Given the description of an element on the screen output the (x, y) to click on. 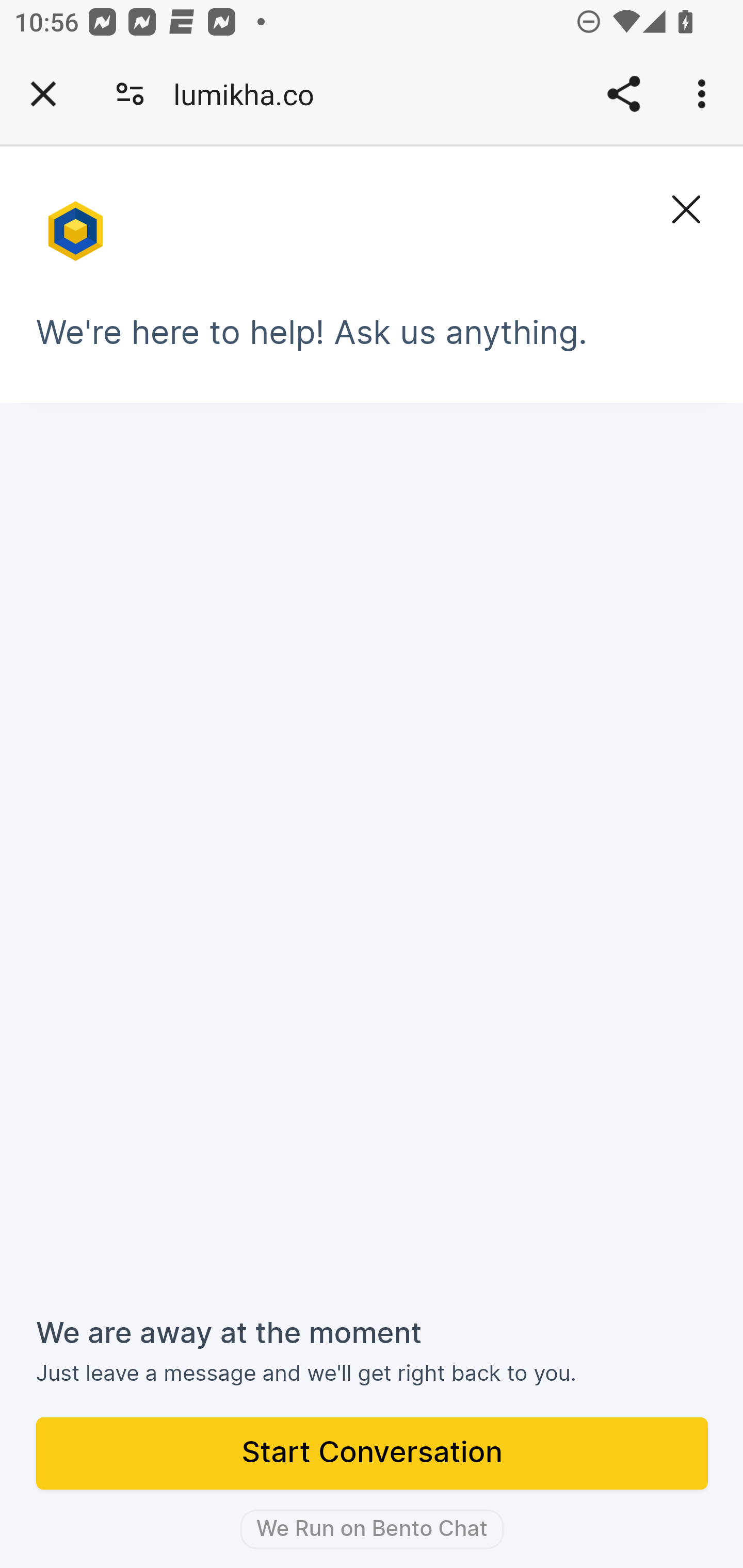
Close tab (43, 93)
Share (623, 93)
Customize and control Google Chrome (705, 93)
Connection is secure (129, 93)
lumikha.co (250, 93)
LUMI-ID-Avatar_Transparent-640w (77, 222)
Start Conversation (372, 1454)
We Run on Bento Chat (371, 1529)
